Given the description of an element on the screen output the (x, y) to click on. 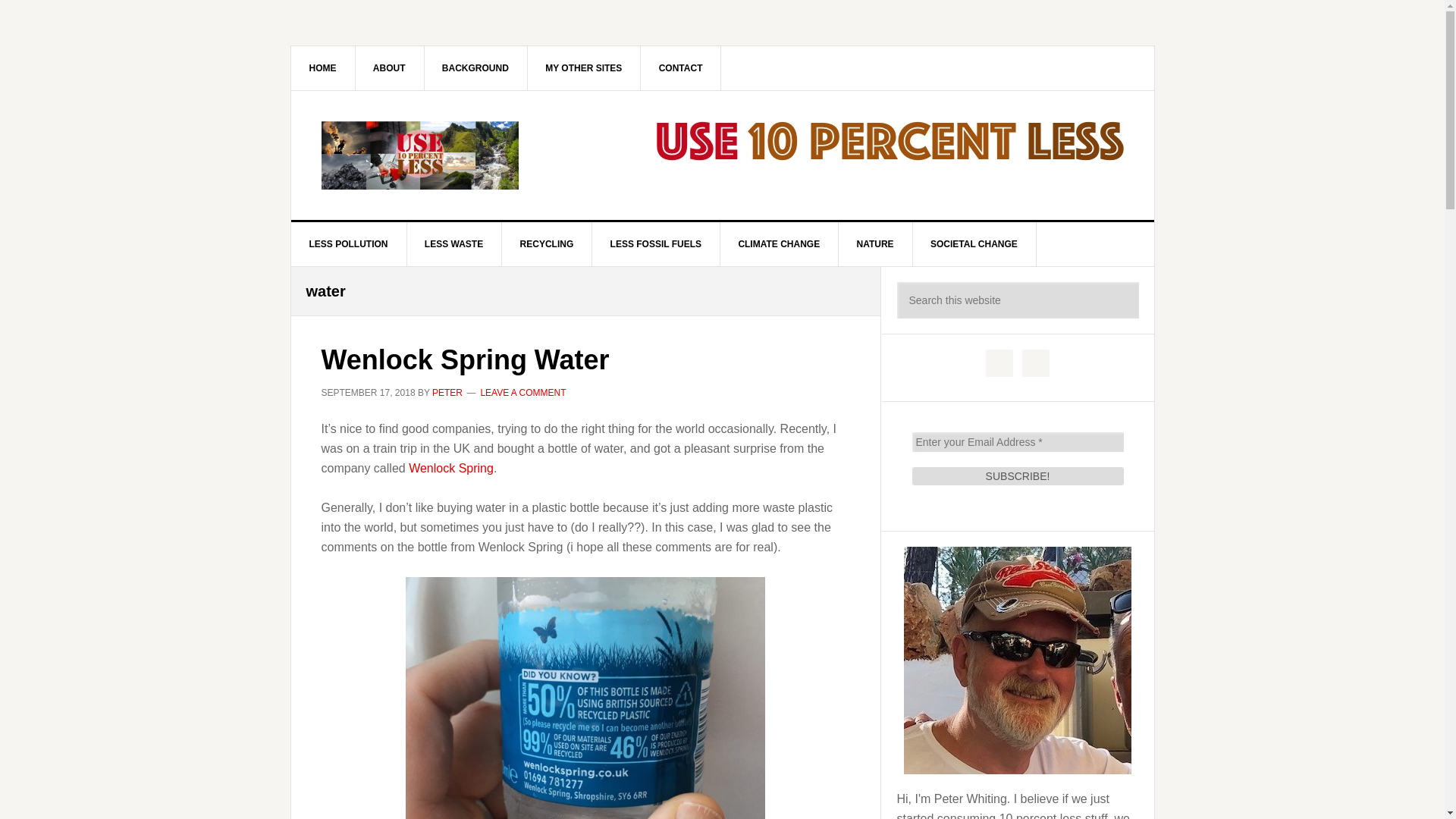
MY OTHER SITES (583, 67)
USE 10 PERCENT LESS (419, 155)
Subscribe! (1016, 475)
Enter your Email Address (1016, 442)
Wenlock Spring (451, 467)
NATURE (875, 243)
BACKGROUND (475, 67)
CLIMATE CHANGE (778, 243)
CONTACT (681, 67)
